Given the description of an element on the screen output the (x, y) to click on. 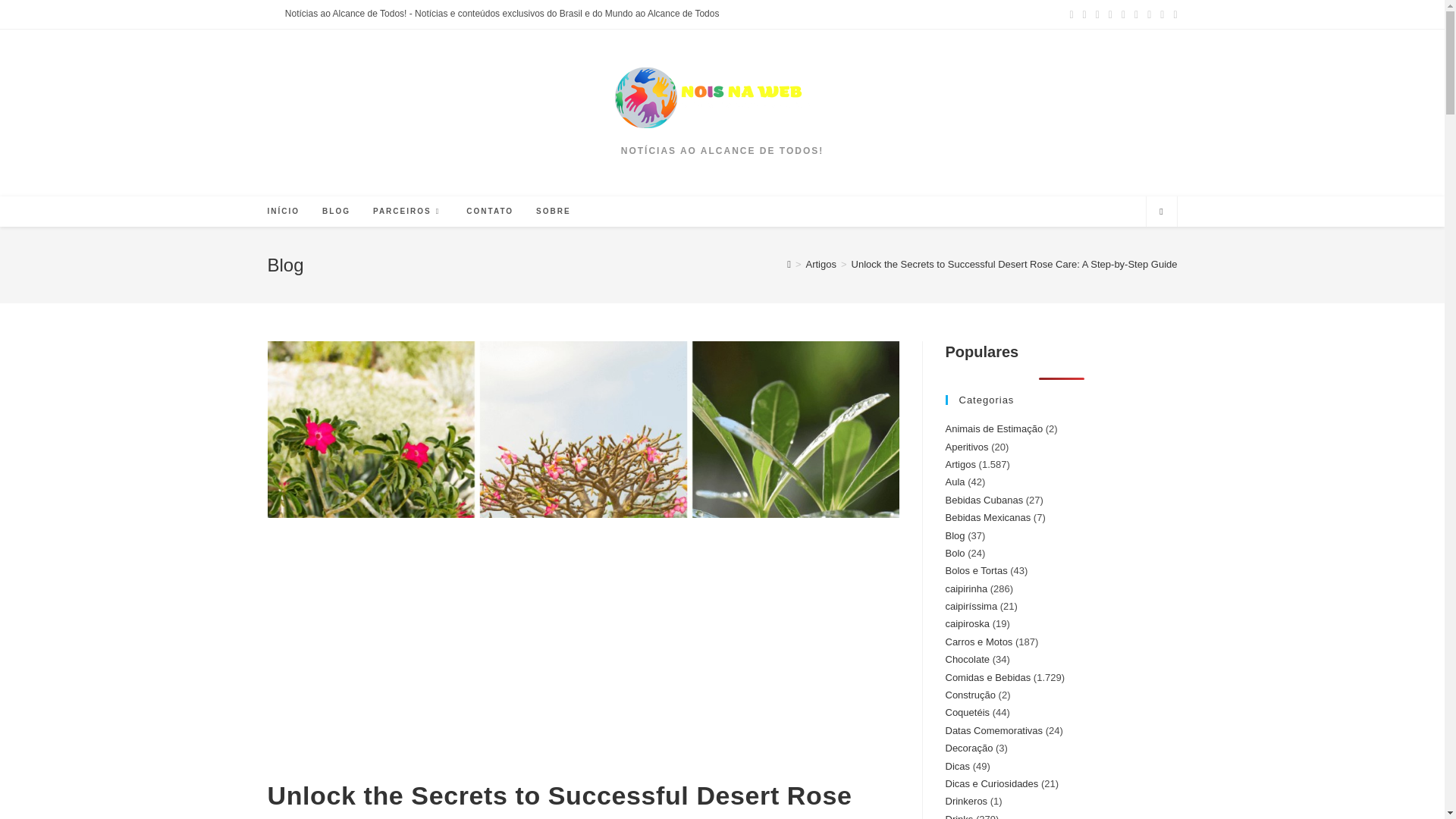
PARCEIROS (407, 211)
CONTATO (489, 211)
Artigos (820, 264)
SOBRE (553, 211)
BLOG (336, 211)
